Given the description of an element on the screen output the (x, y) to click on. 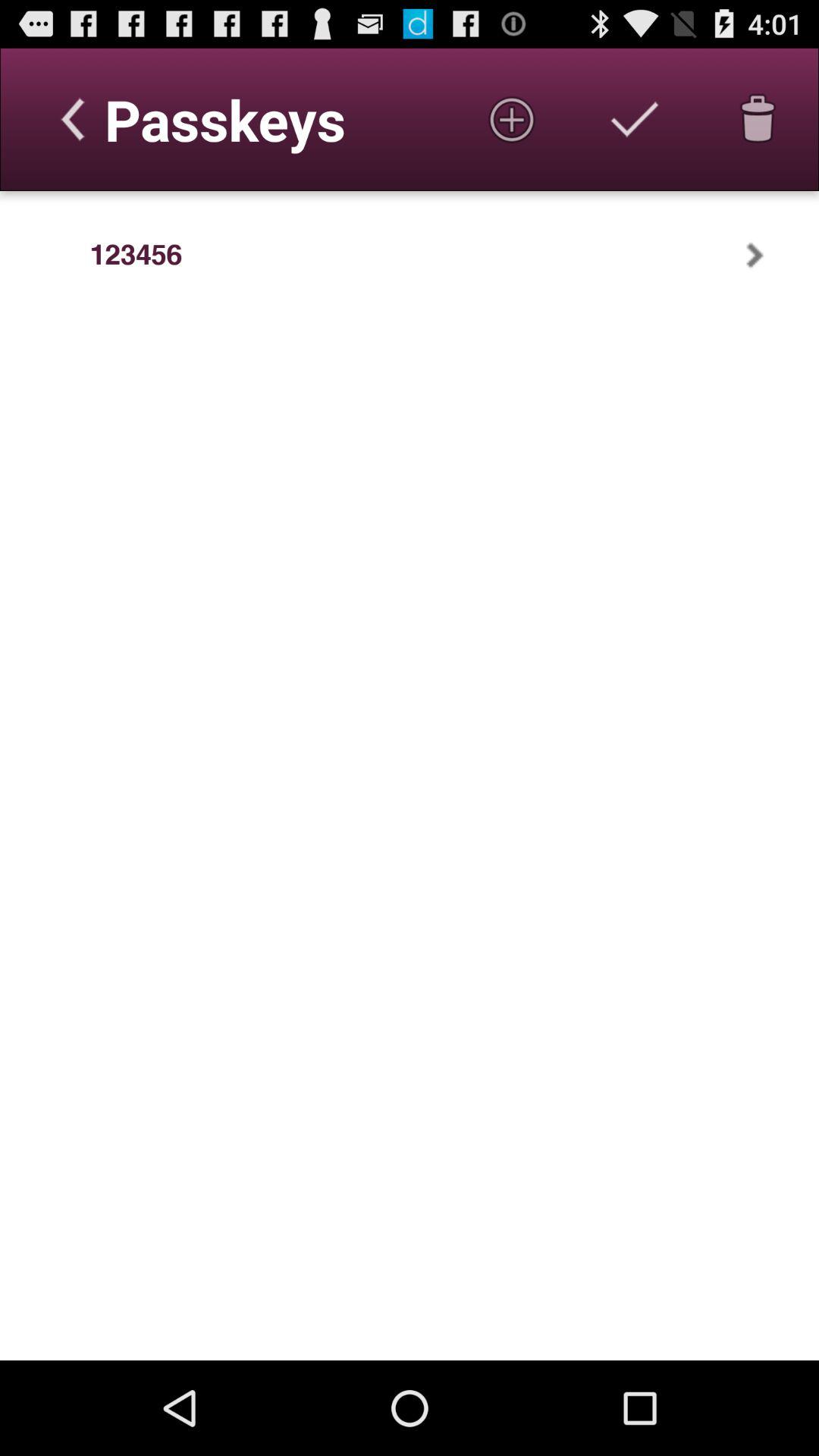
open the app next to 123456 item (44, 254)
